Given the description of an element on the screen output the (x, y) to click on. 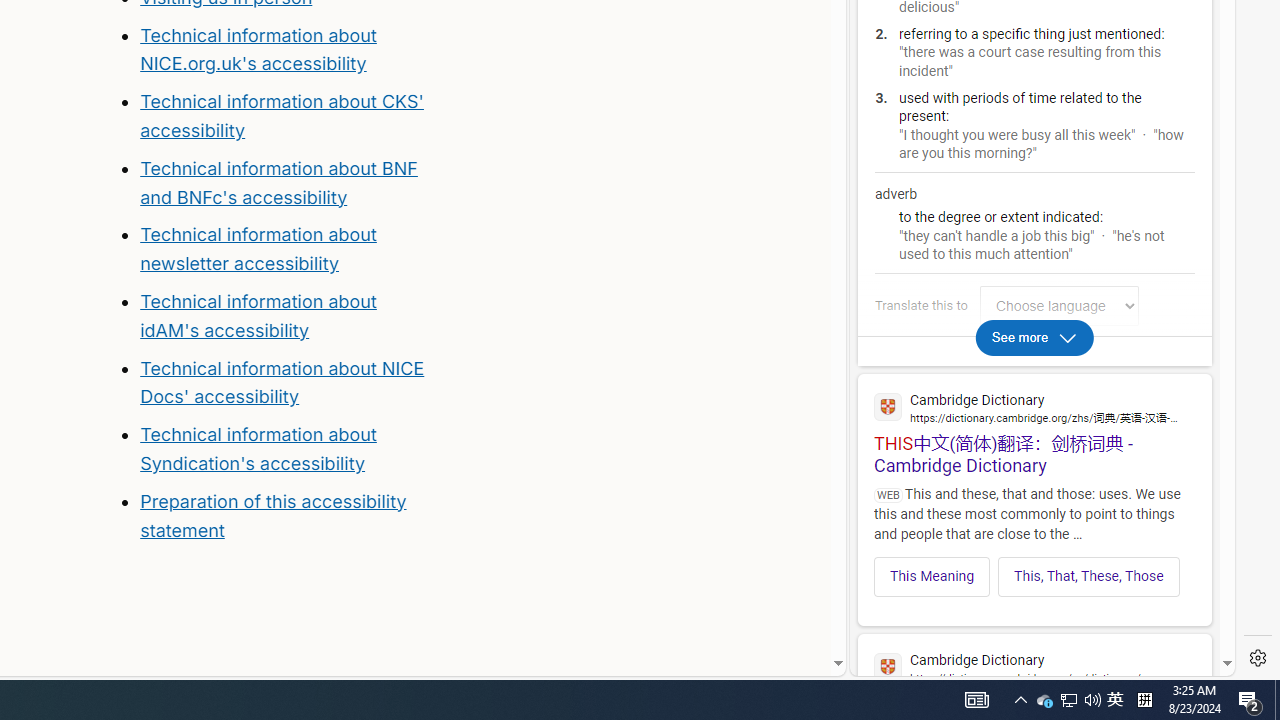
This, That, These, Those (1089, 575)
This Meaning (932, 575)
